Given the description of an element on the screen output the (x, y) to click on. 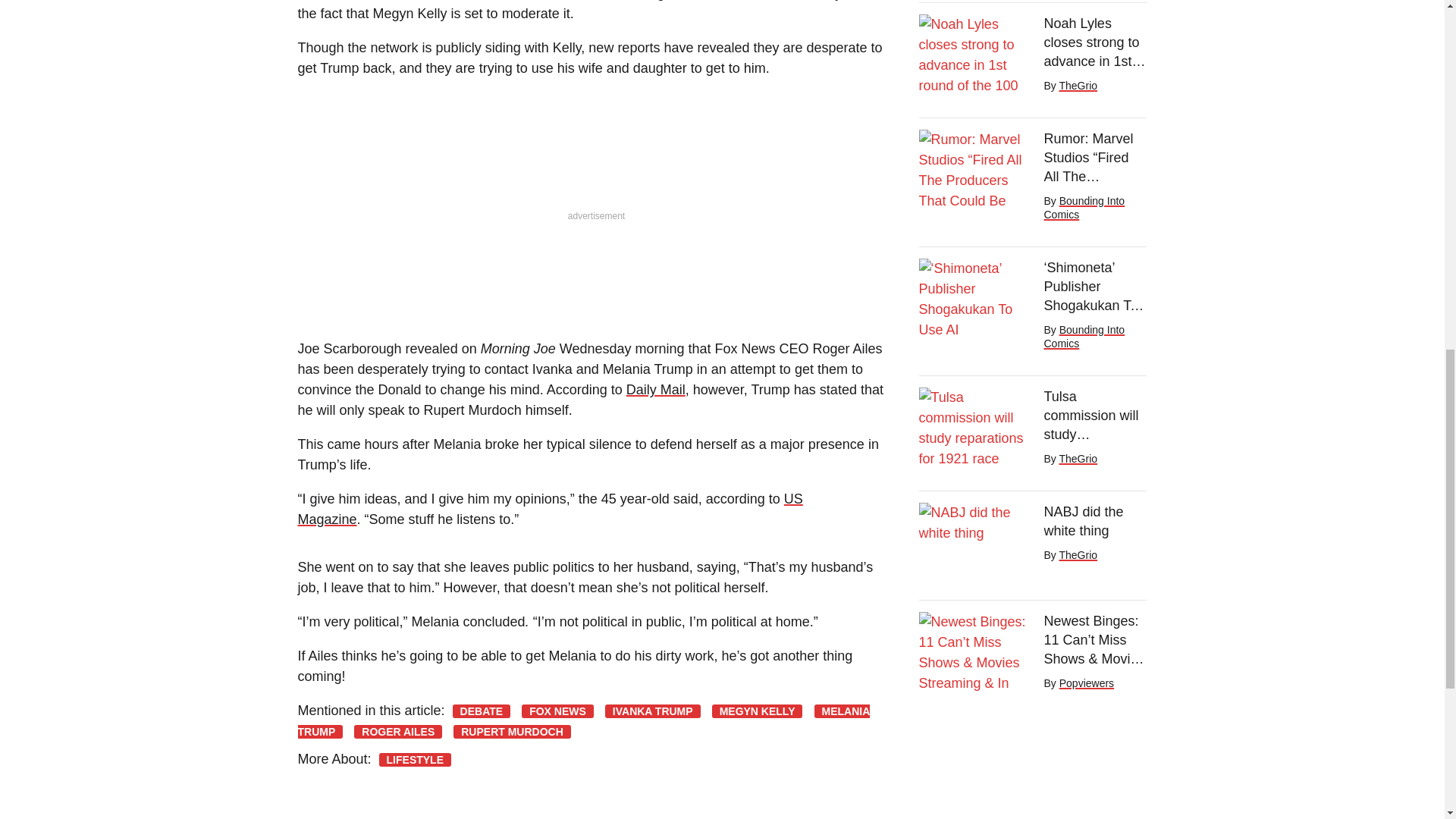
LIFESTYLE (414, 759)
ROGER AILES (397, 731)
MEGYN KELLY (757, 711)
FOX NEWS (557, 711)
DEBATE (481, 711)
US Magazine (549, 509)
Daily Mail (655, 389)
MELANIA TRUMP (583, 721)
TheGrio (1077, 85)
